Given the description of an element on the screen output the (x, y) to click on. 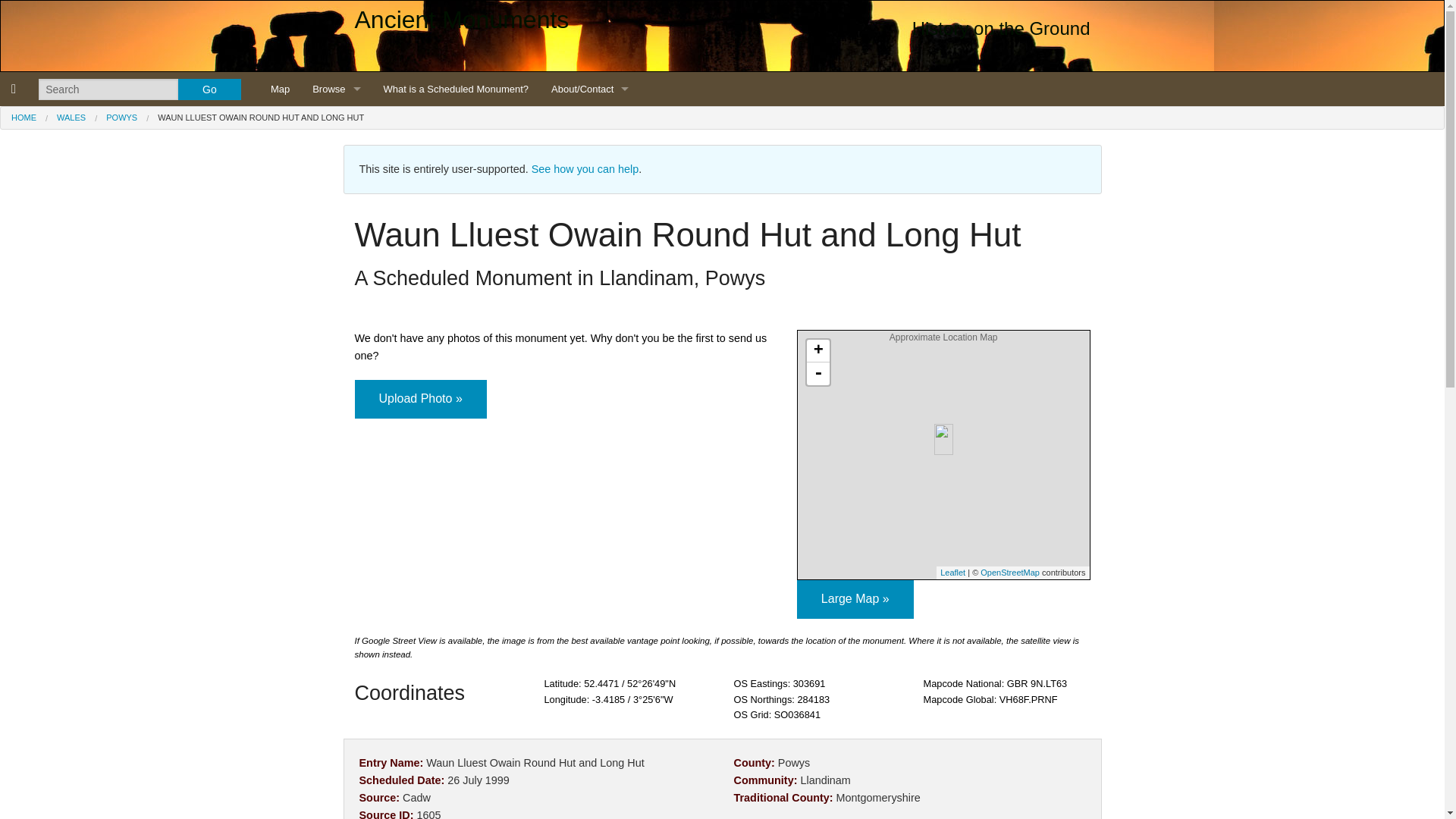
Historic Counties (336, 225)
Scotland (336, 157)
Map (280, 89)
See how you can help (585, 168)
Go (209, 88)
England (336, 123)
HOME (23, 117)
Contact (590, 225)
Donate (590, 361)
WALES (70, 117)
Wales (336, 191)
What's New (590, 191)
OpenStreetMap (1009, 572)
Errors and Corrections (590, 327)
About this site (590, 157)
